Given the description of an element on the screen output the (x, y) to click on. 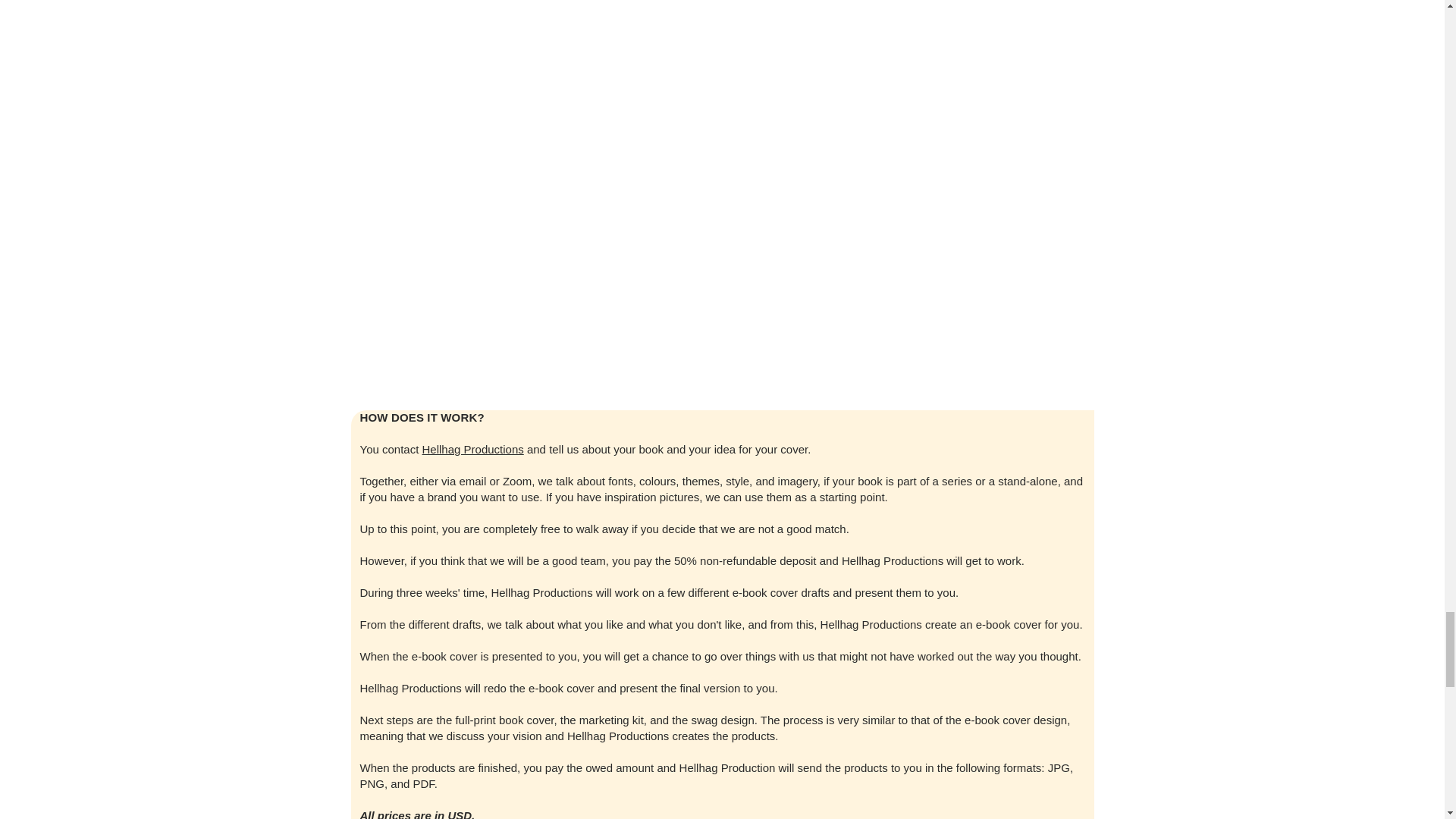
Hellhag Productions (473, 449)
